Given the description of an element on the screen output the (x, y) to click on. 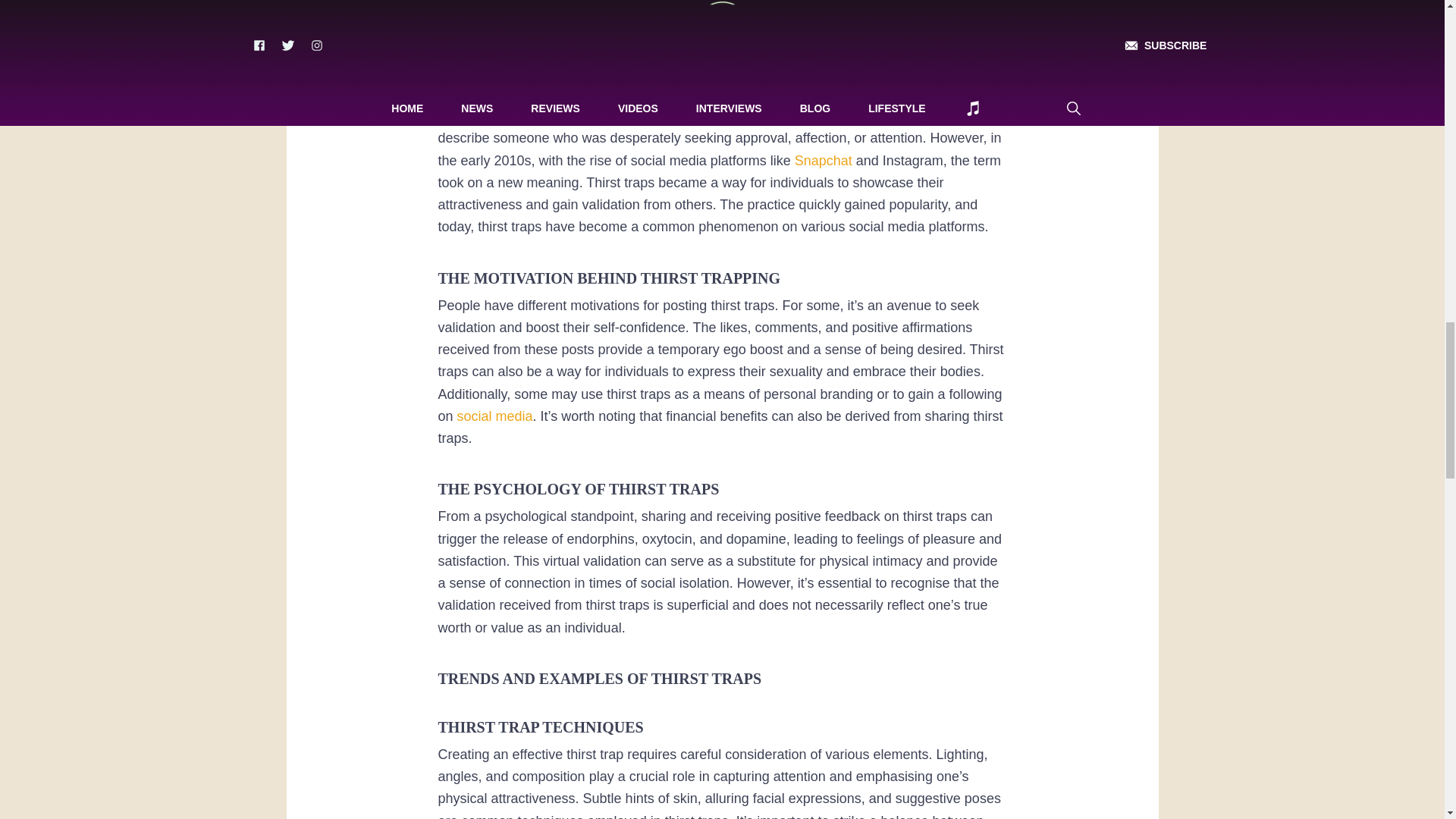
social media (494, 416)
Snapchat (822, 160)
